Given the description of an element on the screen output the (x, y) to click on. 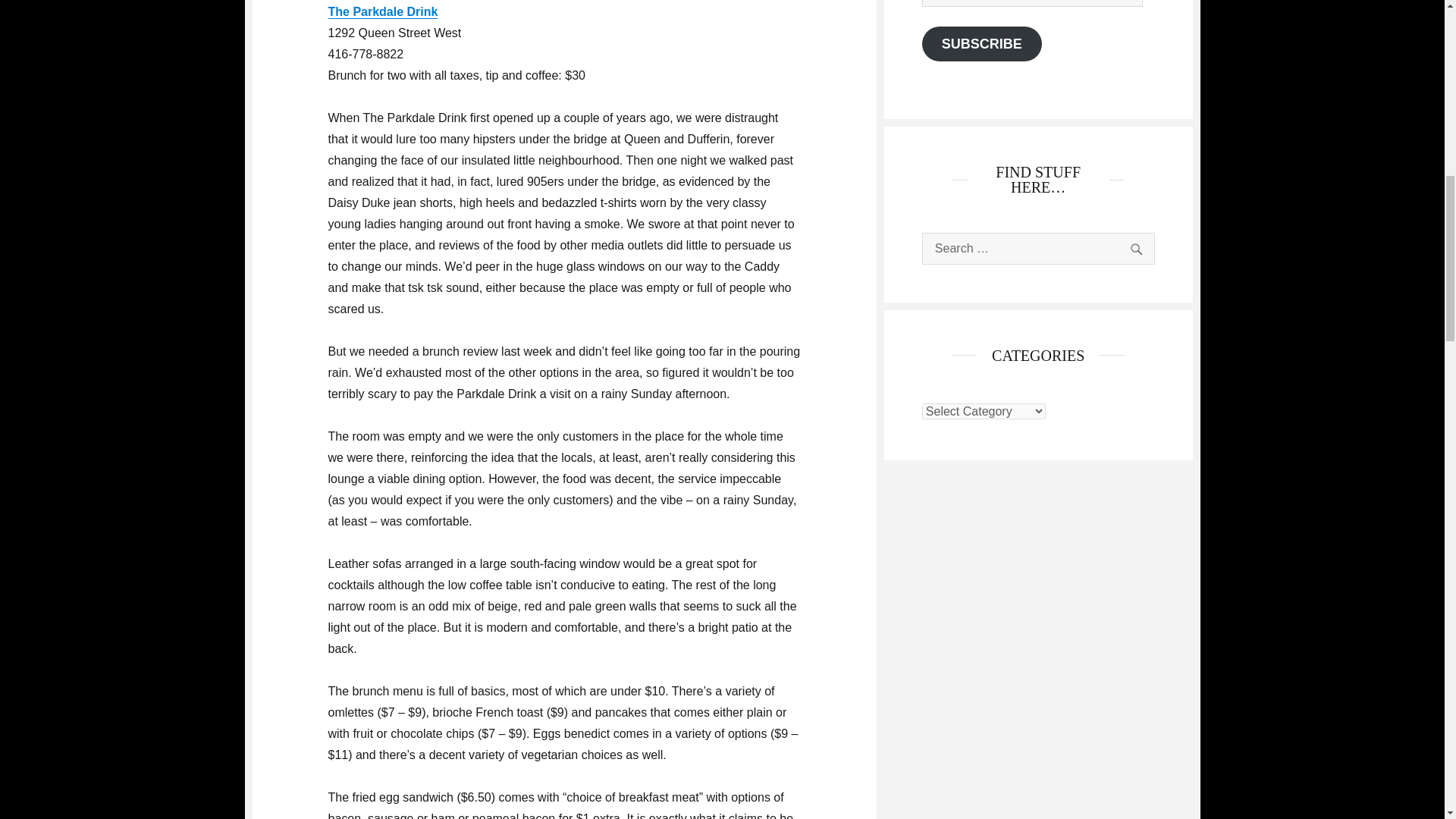
The Parkdale Drink (382, 11)
